Given the description of an element on the screen output the (x, y) to click on. 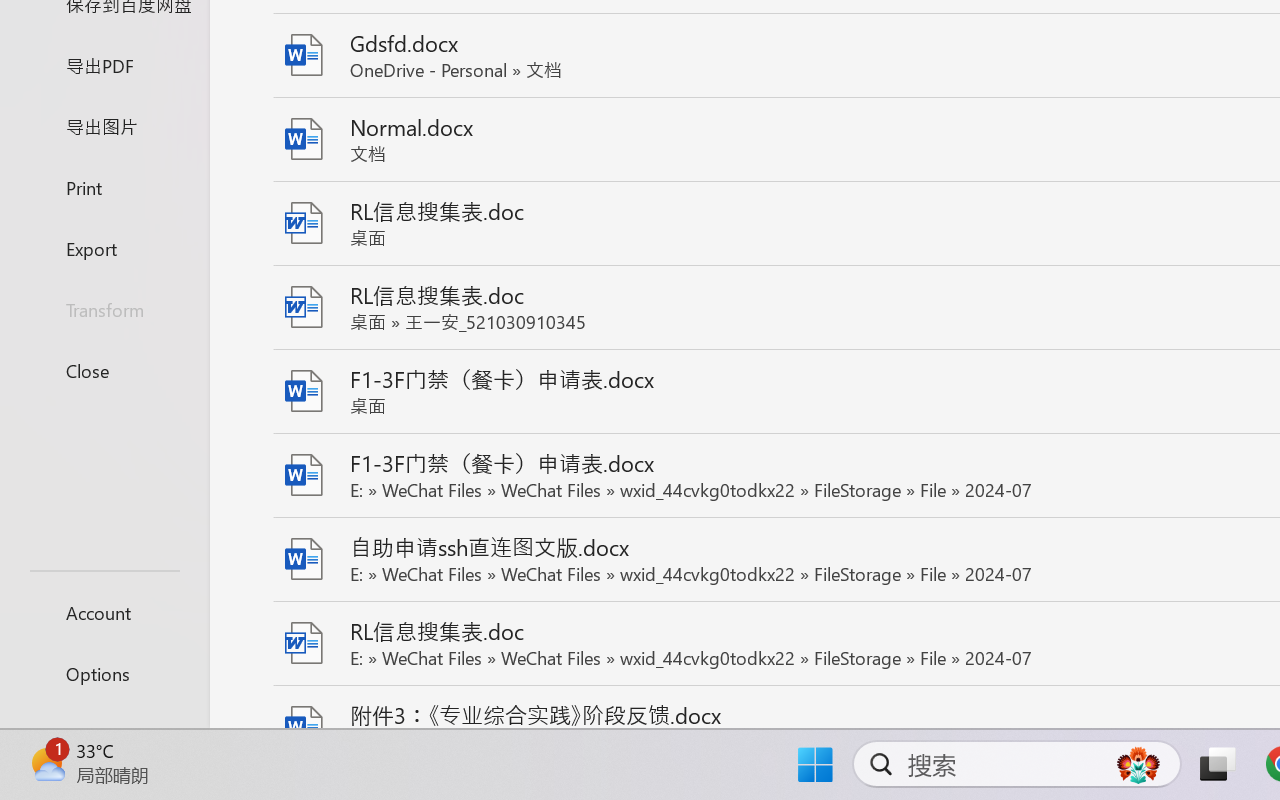
Export (104, 248)
Print (104, 186)
Options (104, 673)
Transform (104, 309)
Account (104, 612)
